Given the description of an element on the screen output the (x, y) to click on. 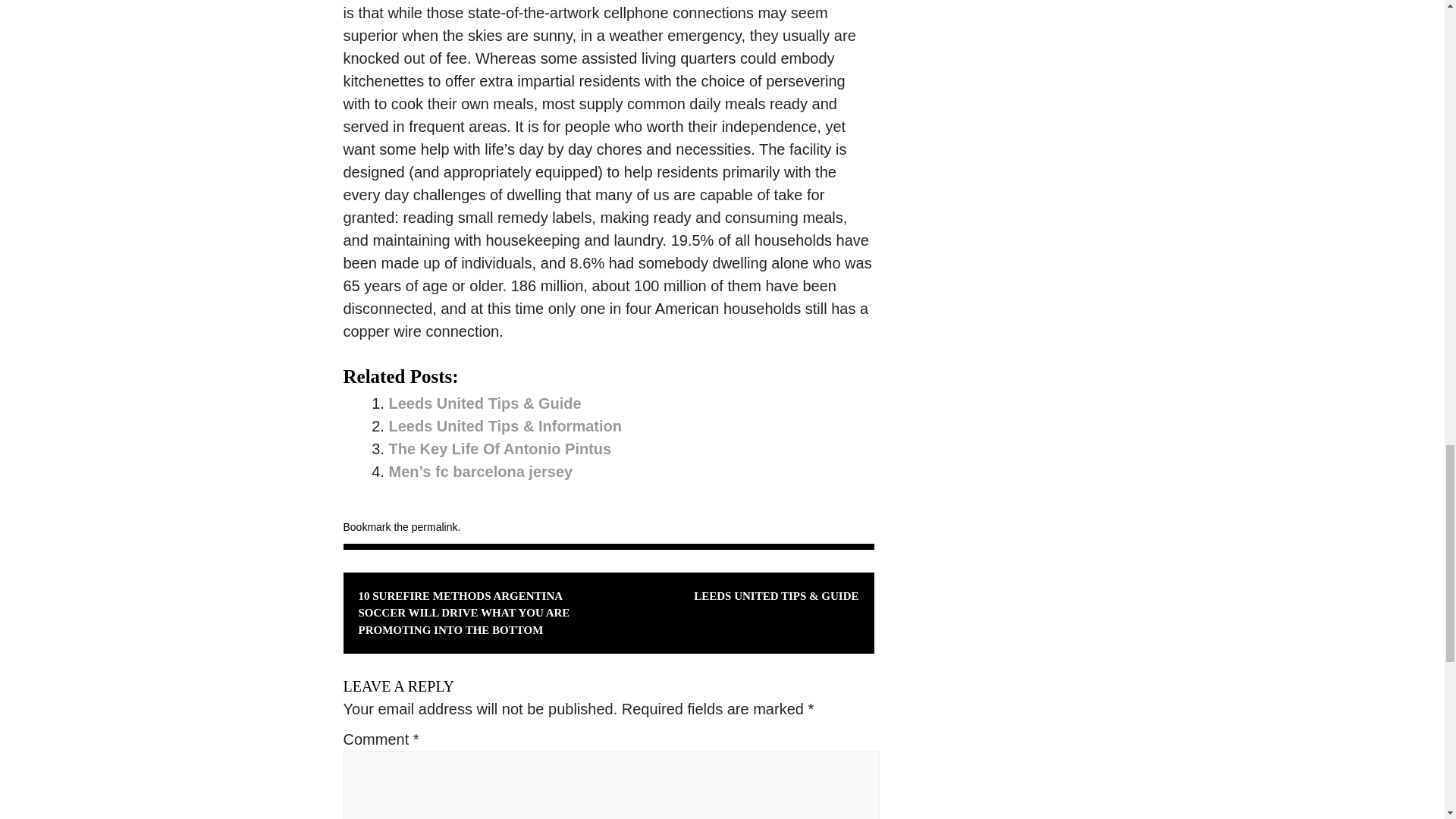
The Key Life Of Antonio Pintus (499, 448)
permalink (435, 526)
The Key Life Of Antonio Pintus (499, 448)
